Given the description of an element on the screen output the (x, y) to click on. 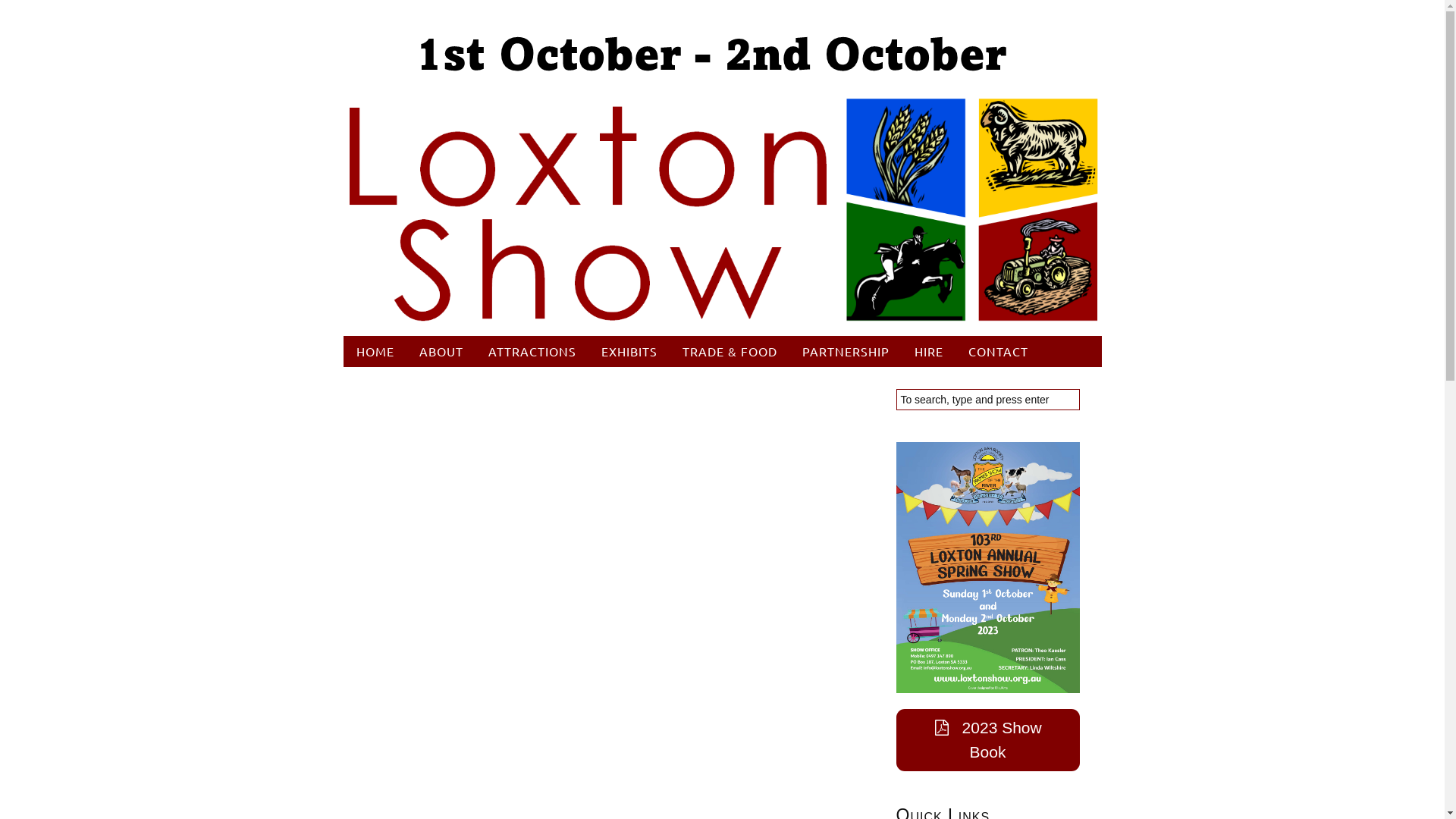
PARTNERSHIP Element type: text (846, 351)
EXHIBITS Element type: text (628, 351)
HOME Element type: text (375, 351)
HIRE Element type: text (929, 351)
ABOUT Element type: text (440, 351)
TRADE & FOOD Element type: text (730, 351)
2023 Show Book Element type: text (987, 740)
ATTRACTIONS Element type: text (532, 351)
CONTACT Element type: text (997, 351)
